Given the description of an element on the screen output the (x, y) to click on. 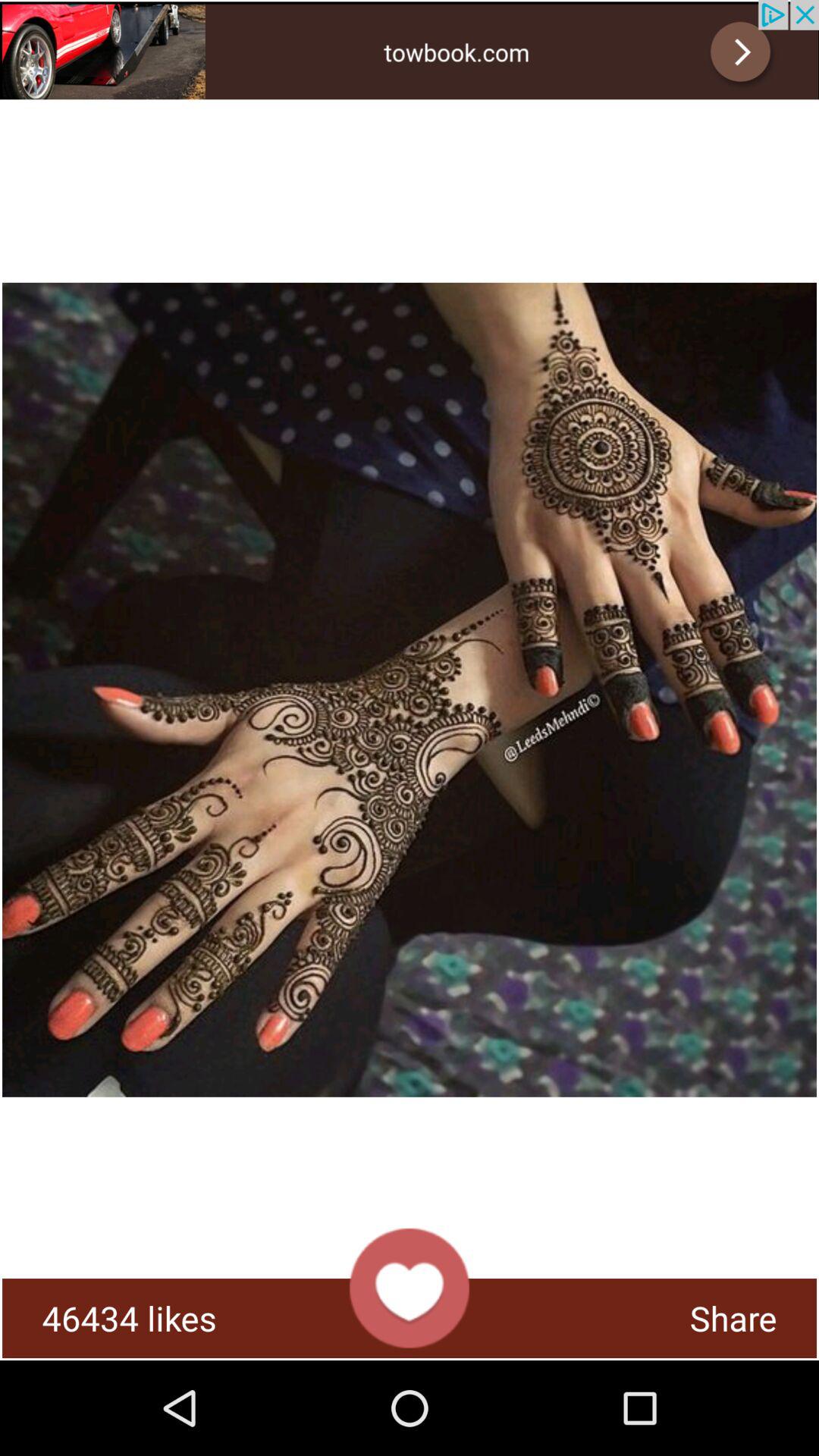
open advertisement (409, 49)
